Given the description of an element on the screen output the (x, y) to click on. 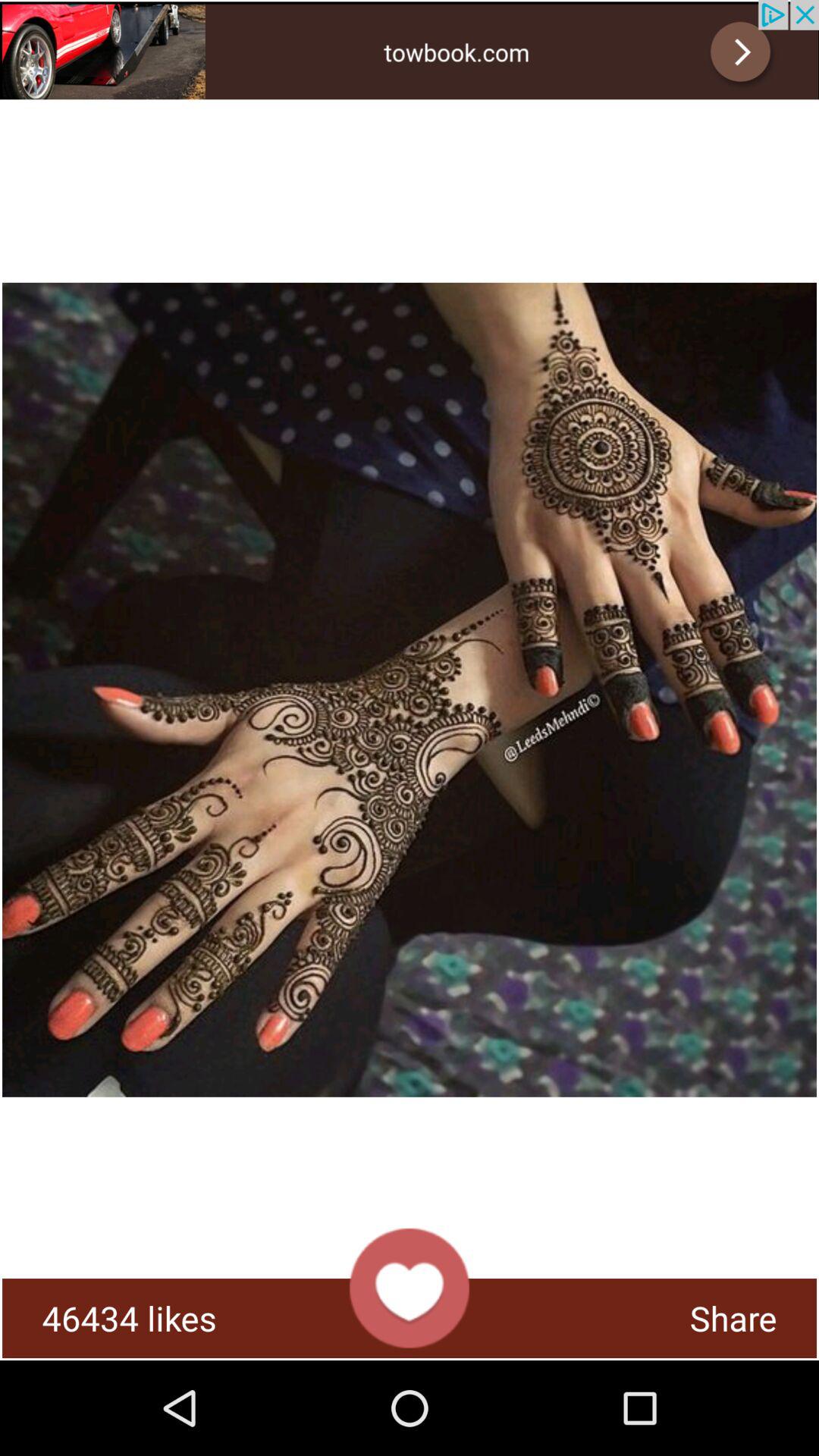
open advertisement (409, 49)
